Given the description of an element on the screen output the (x, y) to click on. 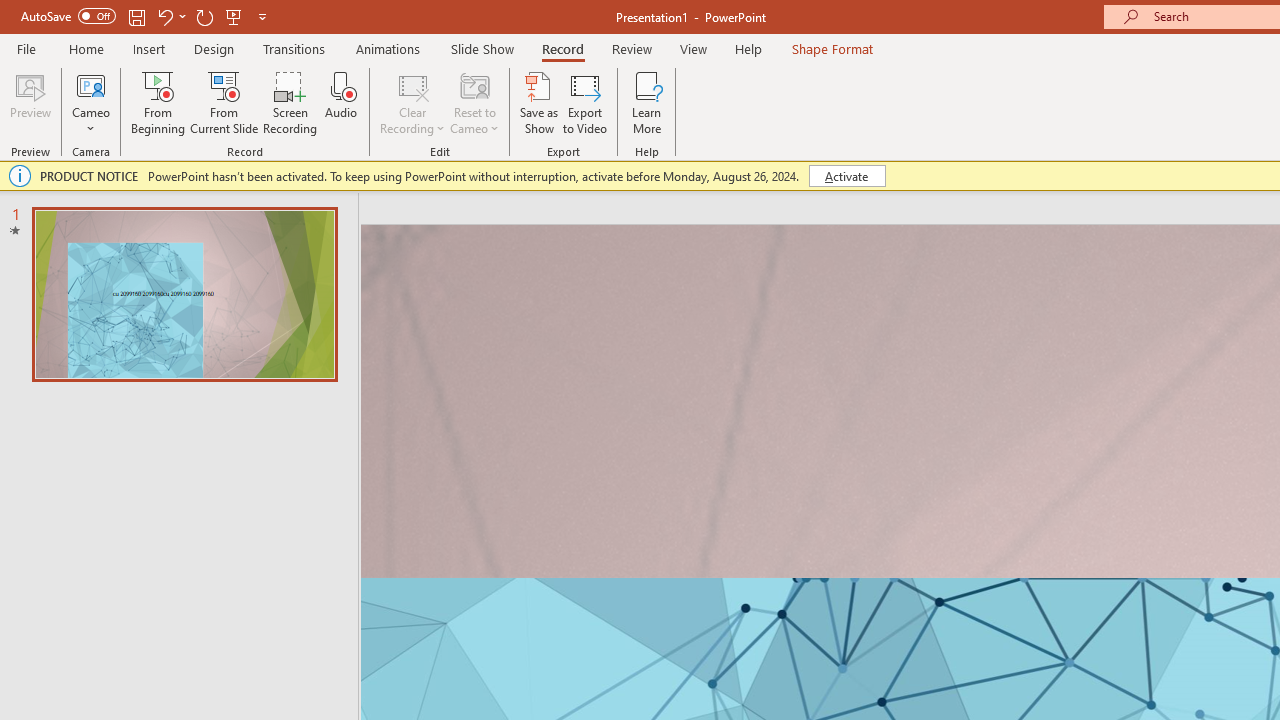
Learn More (646, 102)
From Beginning... (158, 102)
Audio (341, 102)
Clear Recording (412, 102)
